Given the description of an element on the screen output the (x, y) to click on. 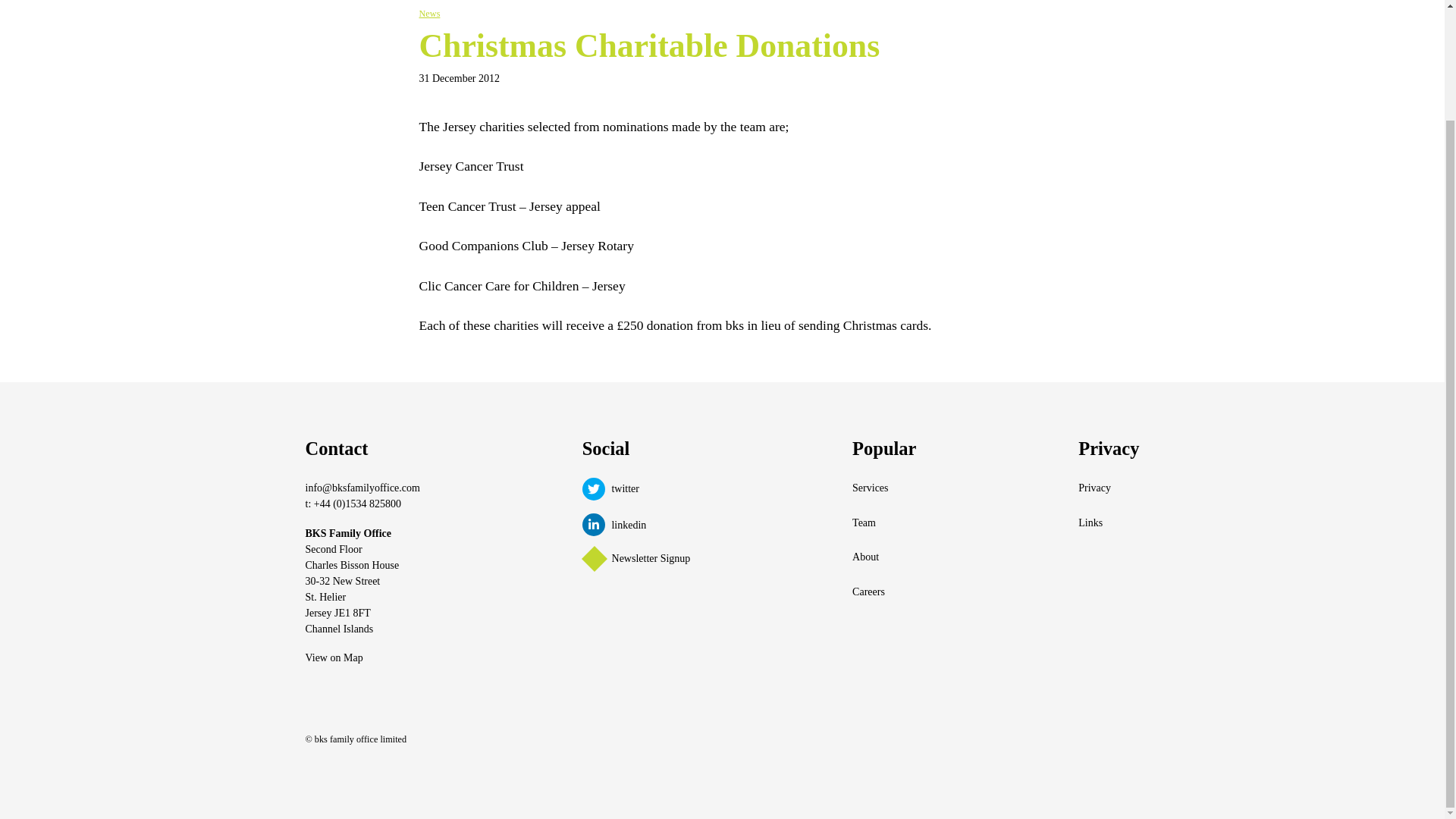
linkedin (636, 524)
Privacy (1108, 488)
Services (883, 488)
About (883, 556)
View on Map (333, 657)
Links (1108, 522)
News (429, 13)
twitter (636, 488)
Team (883, 522)
Newsletter Signup (637, 558)
